Given the description of an element on the screen output the (x, y) to click on. 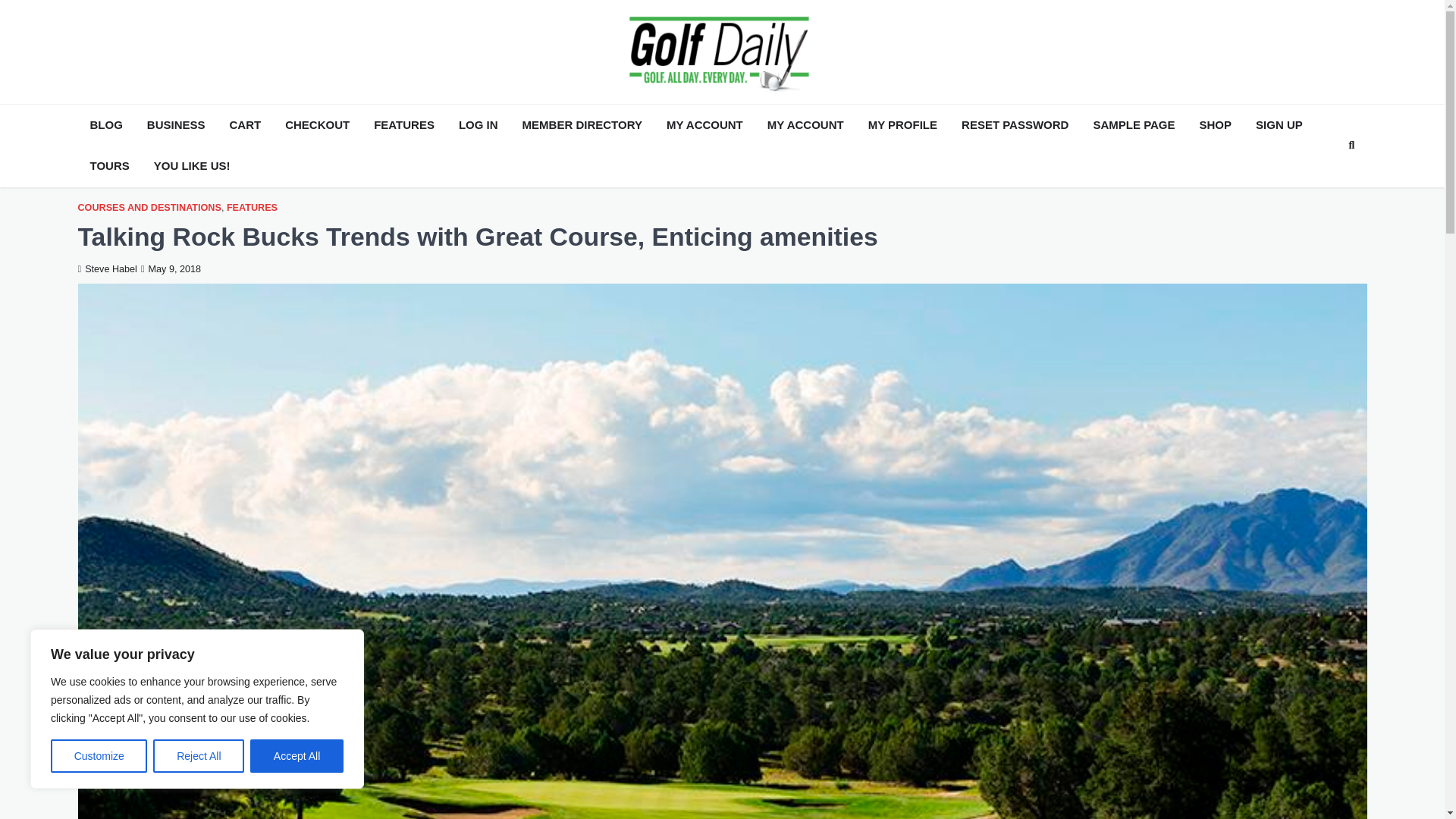
Steve Habel (106, 268)
Search (1351, 145)
BLOG (105, 125)
May 9, 2018 (170, 268)
MY ACCOUNT (805, 125)
MY PROFILE (902, 125)
COURSES AND DESTINATIONS (149, 206)
Search (1323, 180)
BUSINESS (176, 125)
CHECKOUT (317, 125)
SHOP (1216, 125)
LOG IN (477, 125)
Accept All (296, 756)
CART (245, 125)
SIGN UP (1278, 125)
